Given the description of an element on the screen output the (x, y) to click on. 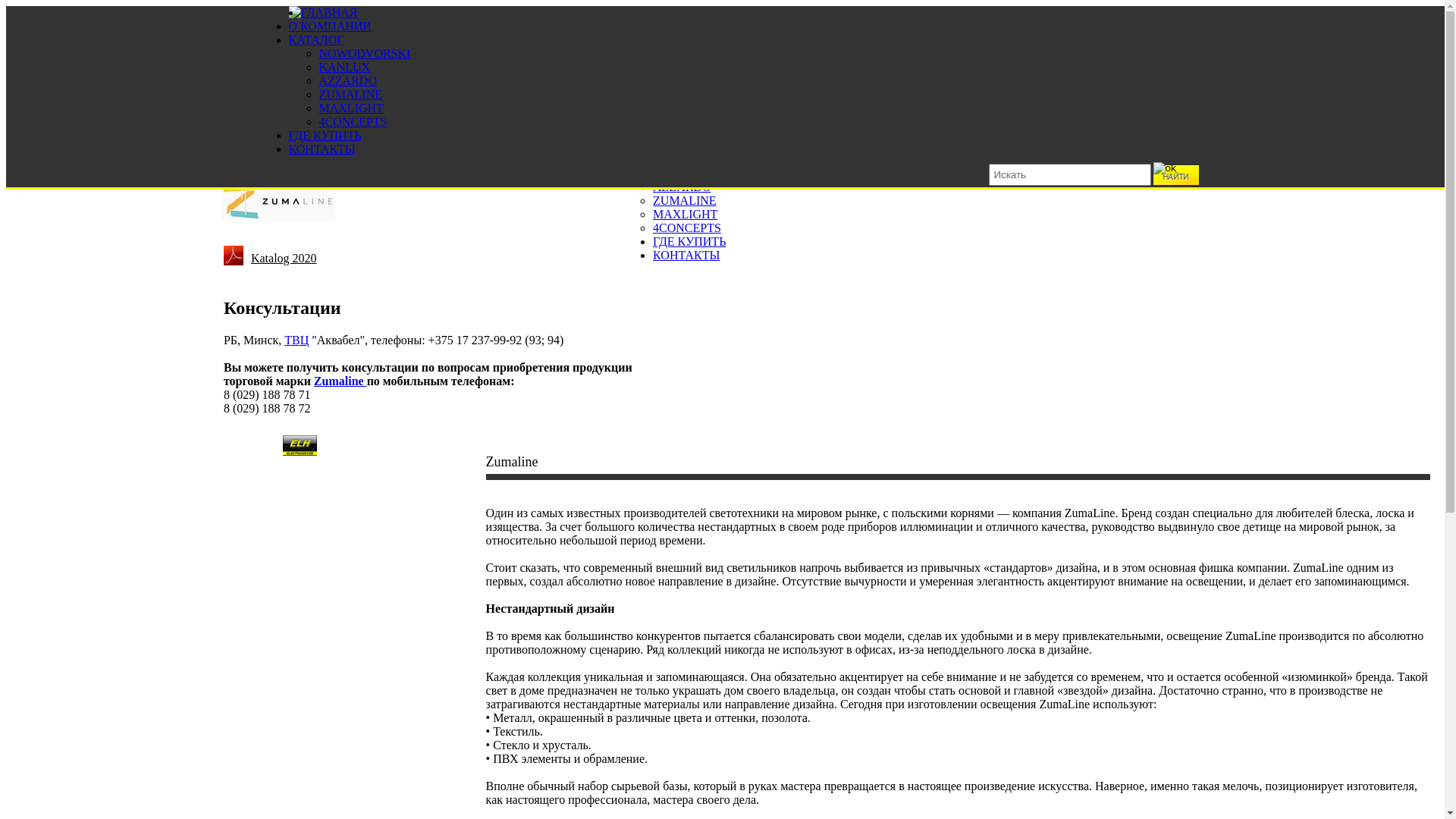
ZUMALINE Element type: text (350, 93)
MAXLIGHT Element type: text (684, 213)
4CONCEPTS Element type: text (352, 121)
NOWODVORSKI Element type: text (698, 159)
ZUMALINE Element type: text (684, 200)
AZZARDO Element type: text (347, 80)
Katalog 2020 Element type: text (283, 255)
Zumaline Element type: text (340, 380)
NOWODVORSKI Element type: text (364, 53)
AZZARDO Element type: text (681, 186)
MAXLIGHT Element type: text (350, 107)
KANLUX Element type: text (344, 66)
4CONCEPTS Element type: text (686, 227)
KANLUX Element type: text (678, 172)
